Given the description of an element on the screen output the (x, y) to click on. 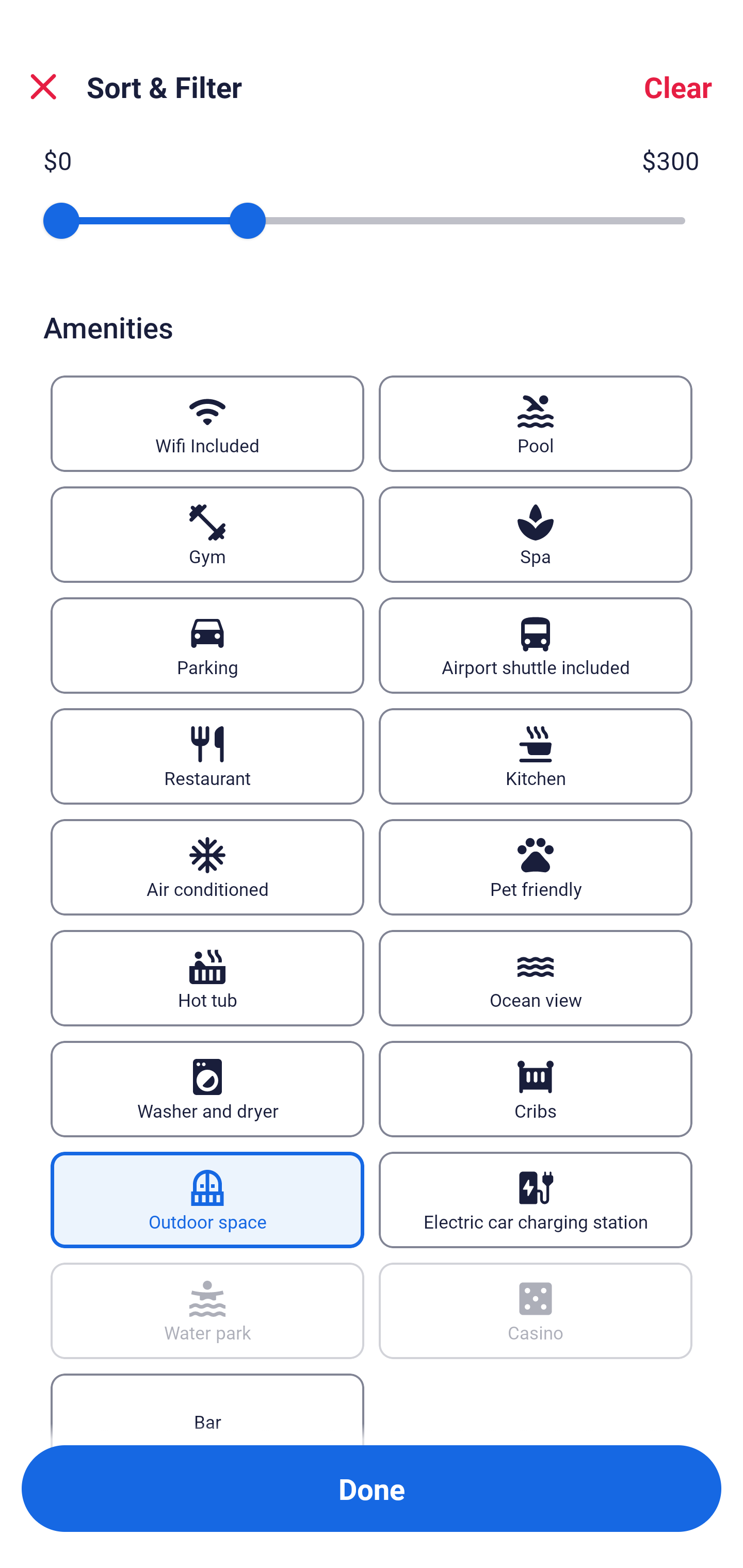
Close Sort and Filter (43, 86)
Clear (677, 86)
Wifi Included (207, 422)
Pool (535, 422)
Gym (207, 534)
Spa (535, 534)
Parking (207, 645)
Airport shuttle included (535, 645)
Restaurant (207, 756)
Kitchen (535, 756)
Air conditioned (207, 866)
Pet friendly (535, 866)
Hot tub (207, 978)
Ocean view (535, 978)
Washer and dryer (207, 1088)
Cribs (535, 1088)
Outdoor space (207, 1200)
Electric car charging station (535, 1200)
Water park (207, 1310)
Casino (535, 1310)
Bar (207, 1409)
Apply and close Sort and Filter Done (371, 1488)
